Given the description of an element on the screen output the (x, y) to click on. 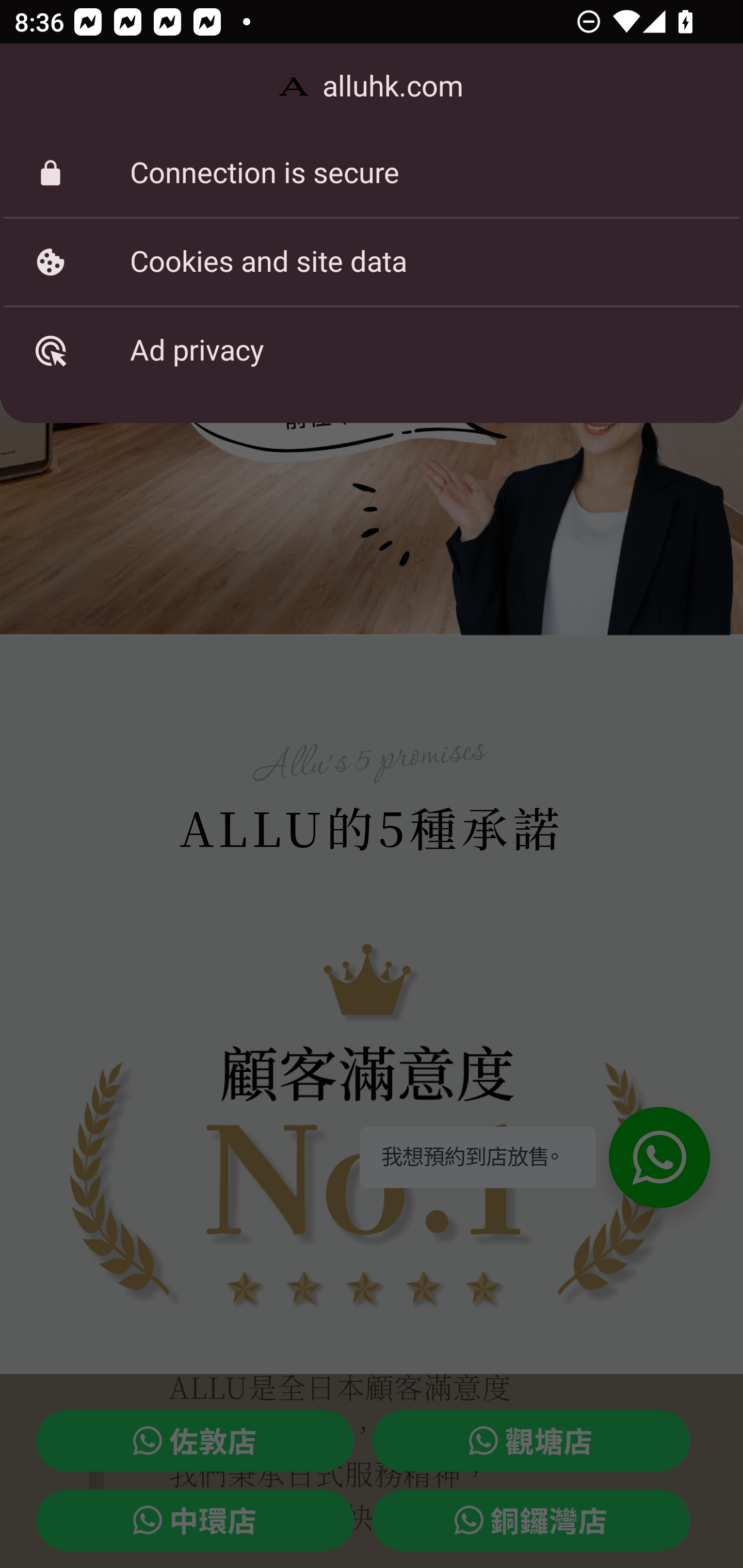
alluhk.com (371, 86)
Connection is secure (371, 173)
Cookies and site data (371, 261)
Ad privacy (371, 350)
